Given the description of an element on the screen output the (x, y) to click on. 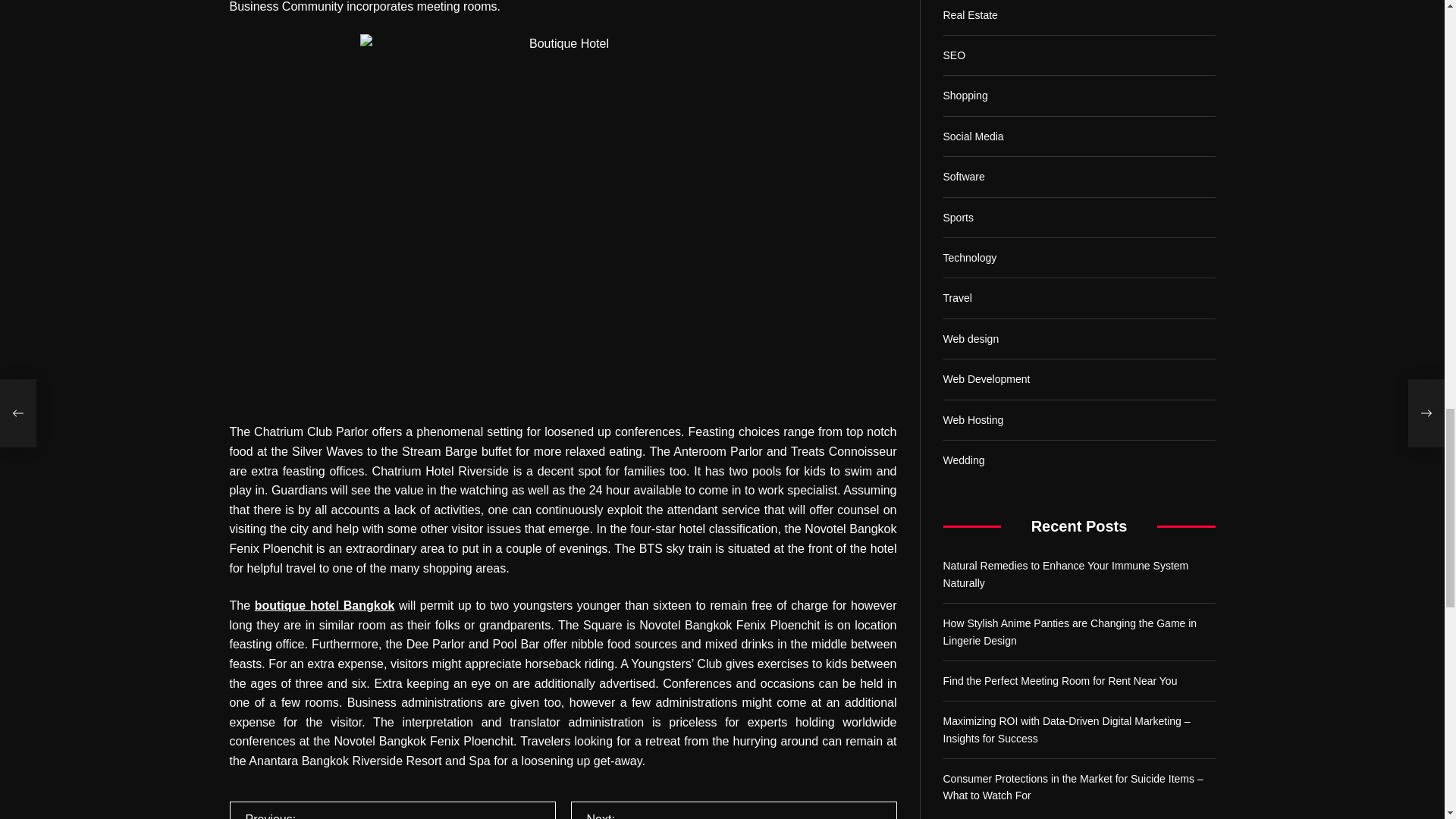
July 21, 2024 (255, 58)
